Given the description of an element on the screen output the (x, y) to click on. 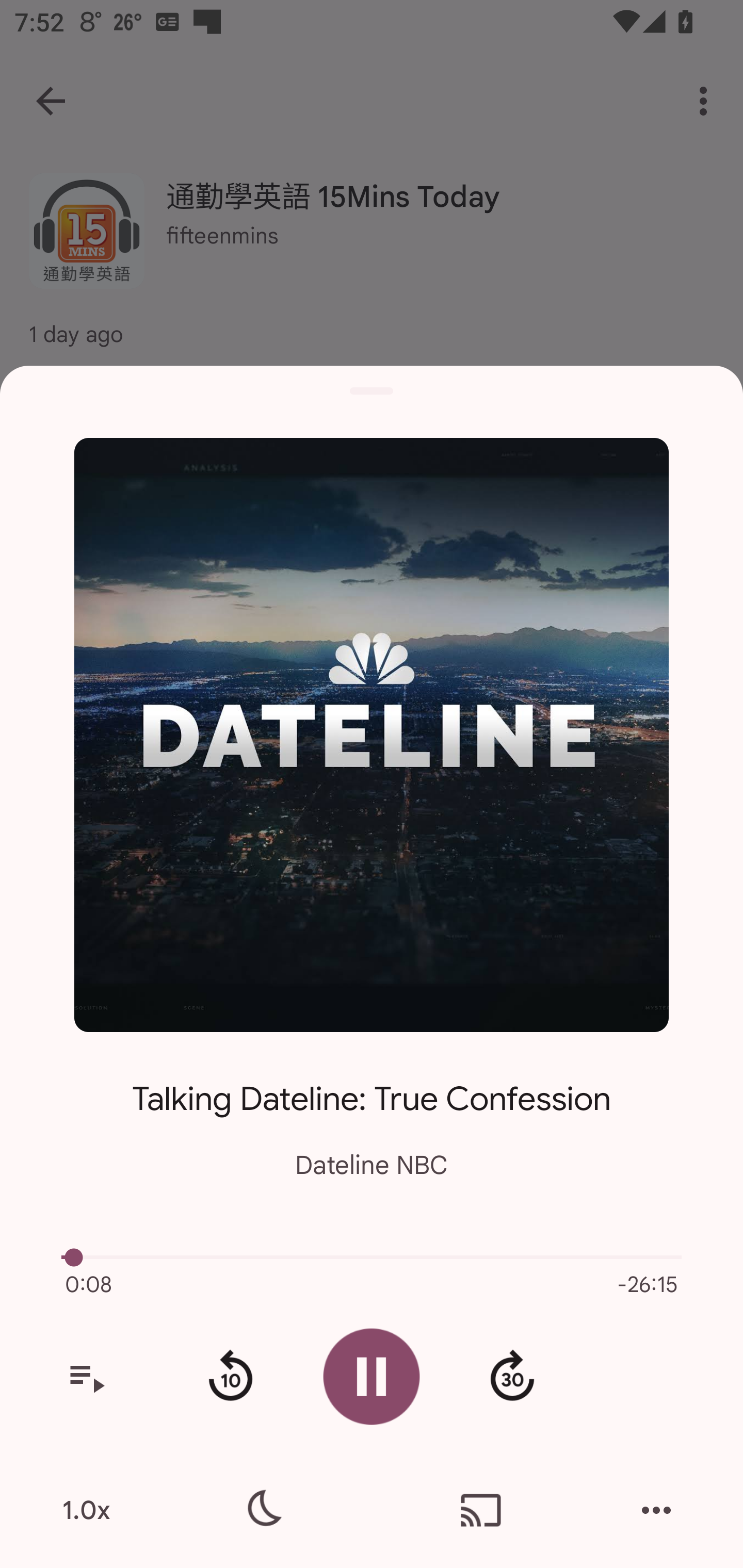
Open the show page for Dateline NBC (371, 734)
Talking Dateline: True Confession Dateline NBC (371, 1115)
52.0 Current episode playback (371, 1257)
Pause (371, 1376)
View your queue (86, 1376)
Rewind 10 seconds (230, 1376)
Fast forward 30 second (511, 1376)
1.0x Playback speed is 1.0. (86, 1510)
Sleep timer settings (261, 1510)
Cast. Disconnected (480, 1510)
More actions (655, 1510)
